Given the description of an element on the screen output the (x, y) to click on. 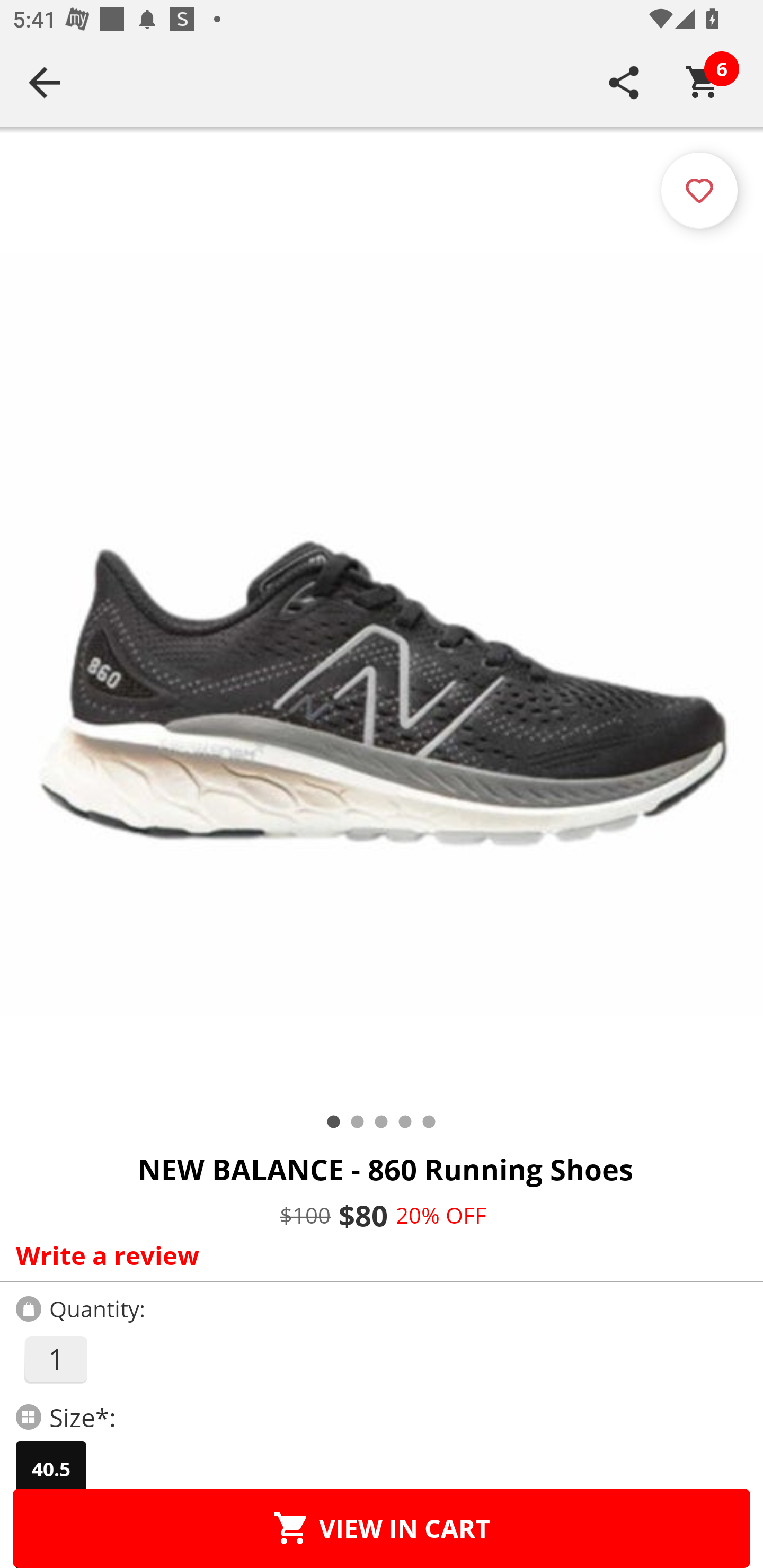
Navigate up (44, 82)
SHARE (623, 82)
Cart (703, 81)
Write a review (377, 1255)
1 (55, 1358)
40.5 (51, 1468)
VIEW IN CART (381, 1528)
